Given the description of an element on the screen output the (x, y) to click on. 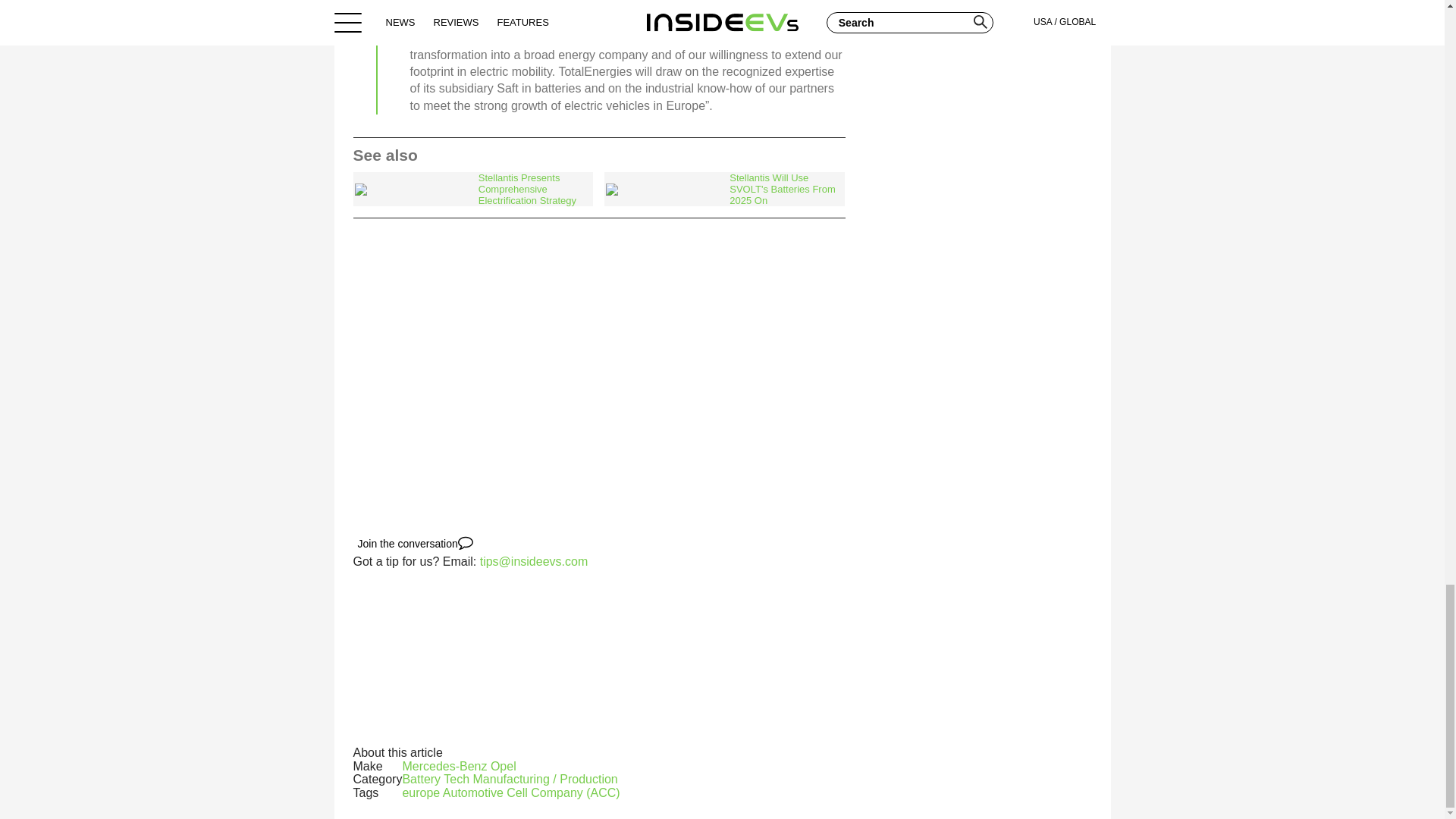
Stellantis Will Use SVOLT's Batteries From 2025 On (724, 188)
Stellantis Presents Comprehensive Electrification Strategy (473, 188)
Join the conversation (415, 543)
